Given the description of an element on the screen output the (x, y) to click on. 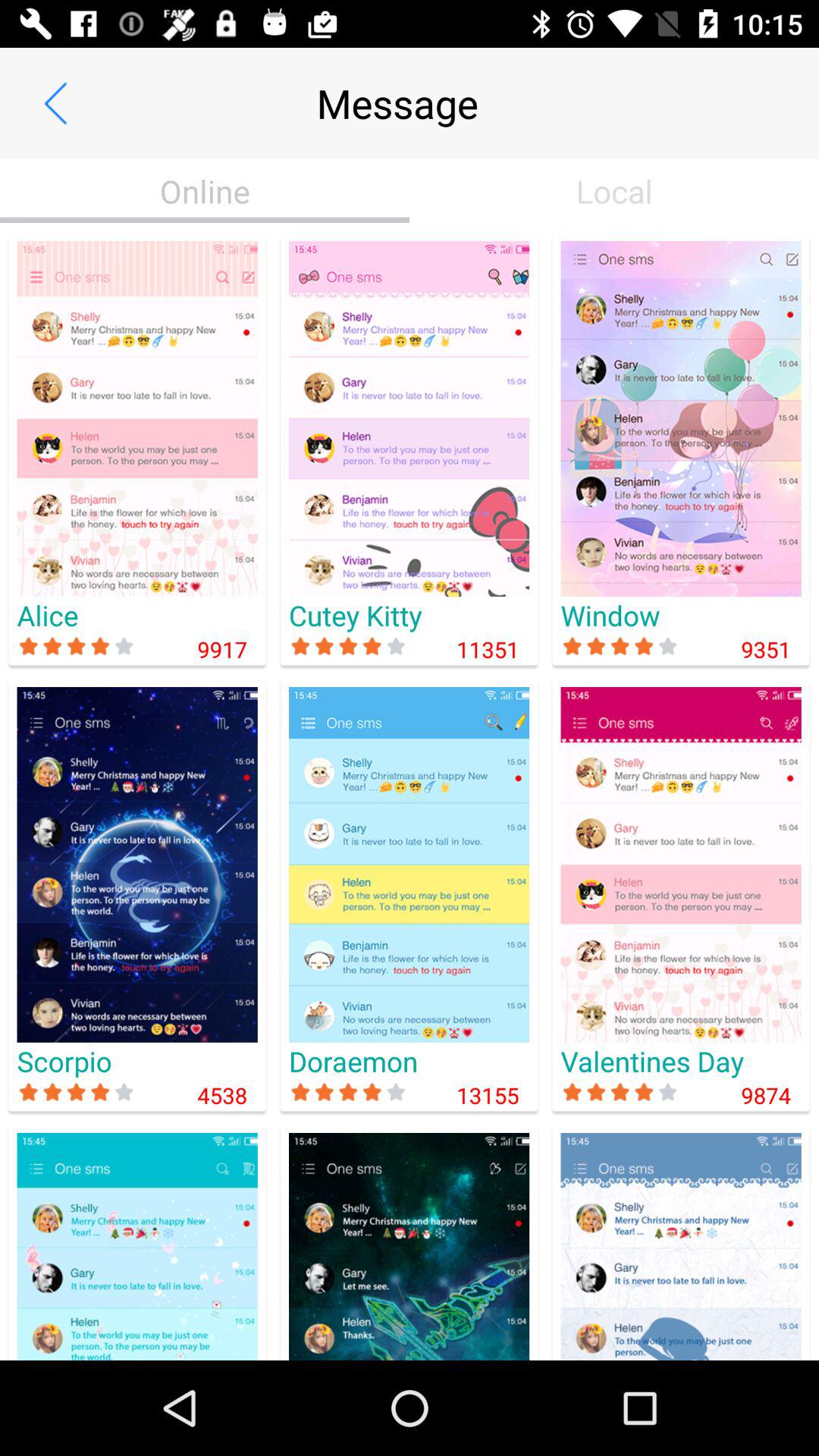
choose the icon below the message (614, 190)
